Given the description of an element on the screen output the (x, y) to click on. 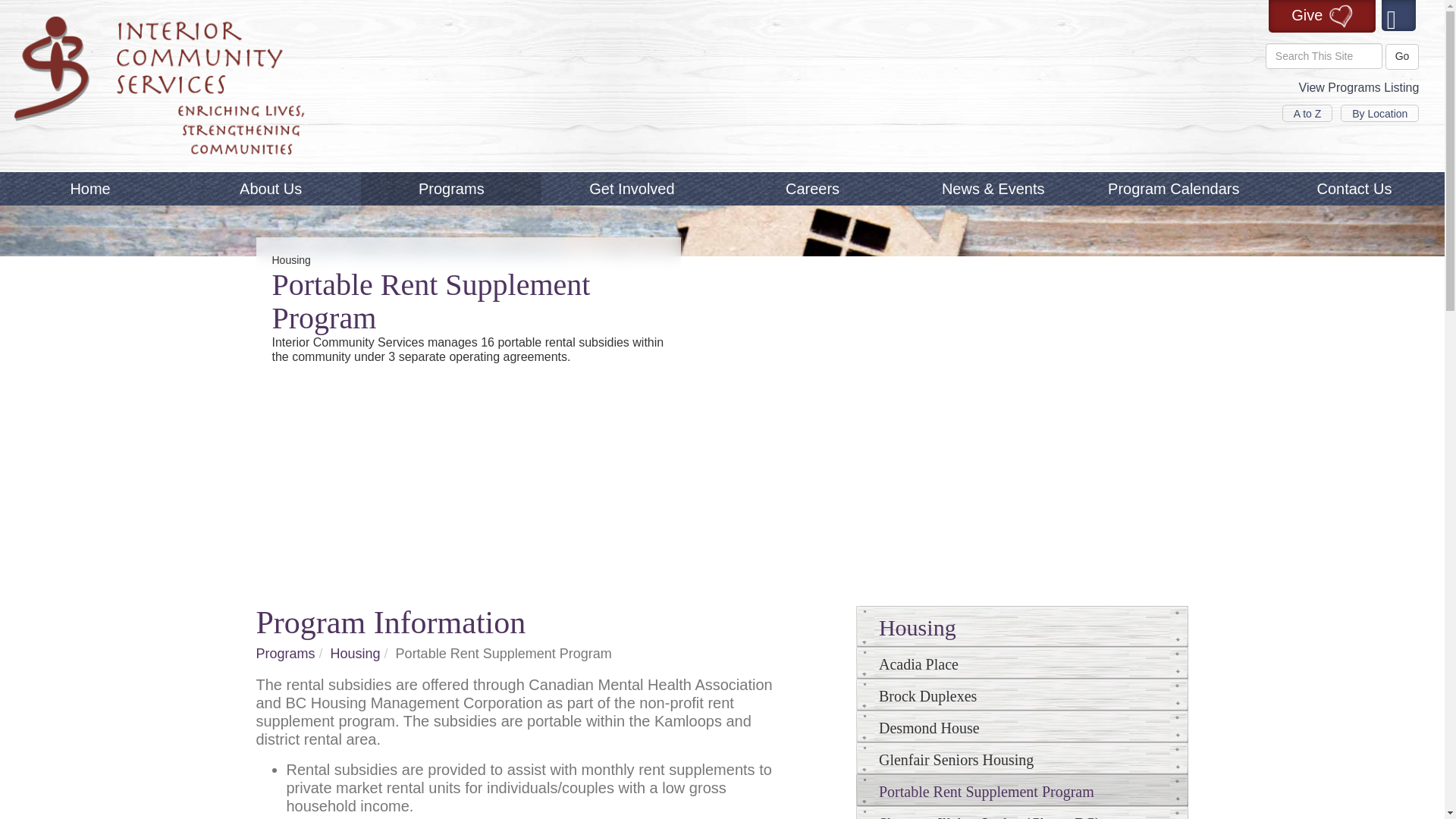
About Us (270, 188)
Portable Rent Supplement Program (495, 654)
Go (1402, 56)
Home (90, 188)
By Location (1379, 113)
Give (1321, 16)
Find Interior Community Services on Facebook (1398, 15)
A to Z (1307, 113)
Programs (451, 188)
